Given the description of an element on the screen output the (x, y) to click on. 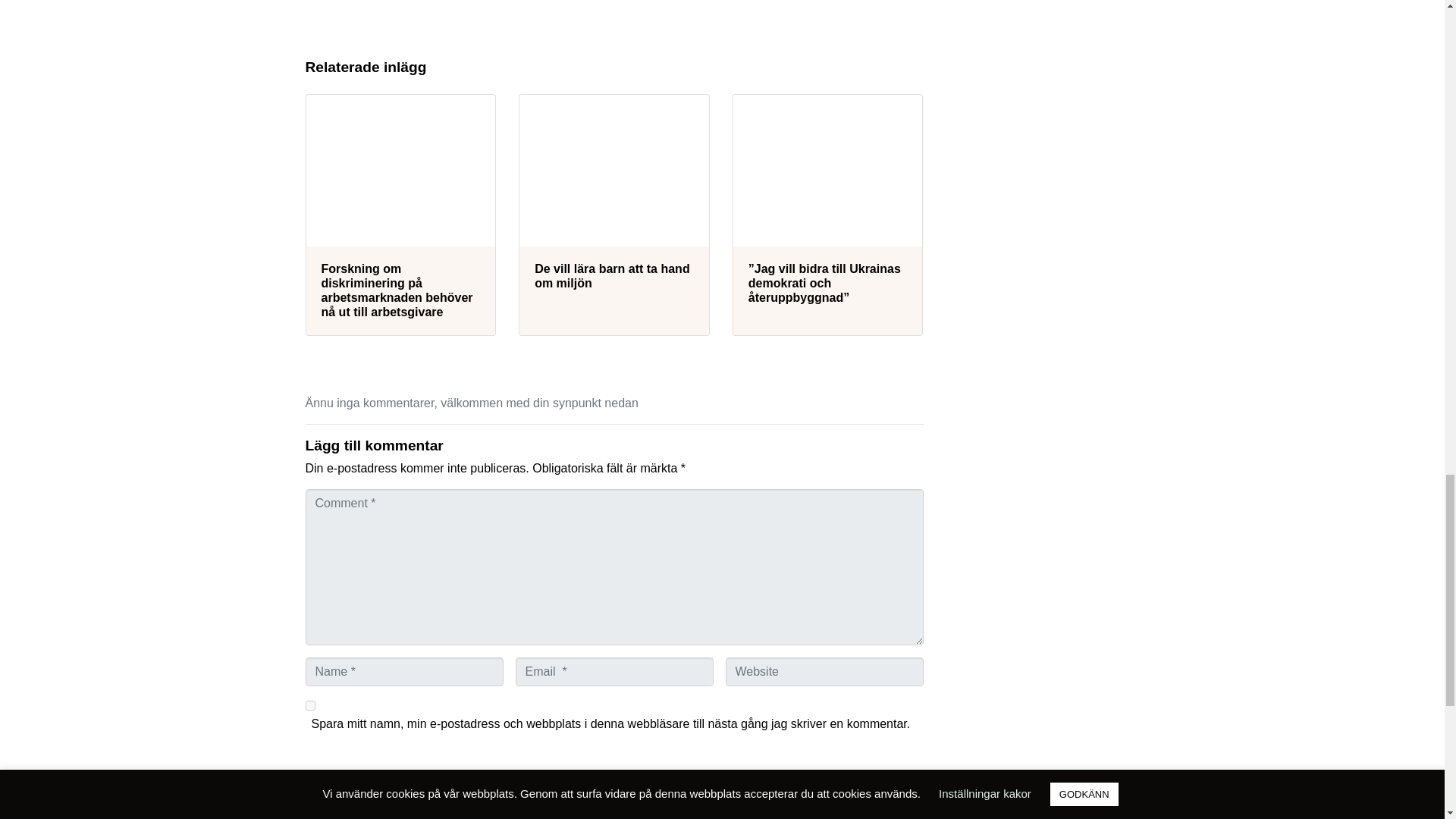
yes (309, 705)
